Given the description of an element on the screen output the (x, y) to click on. 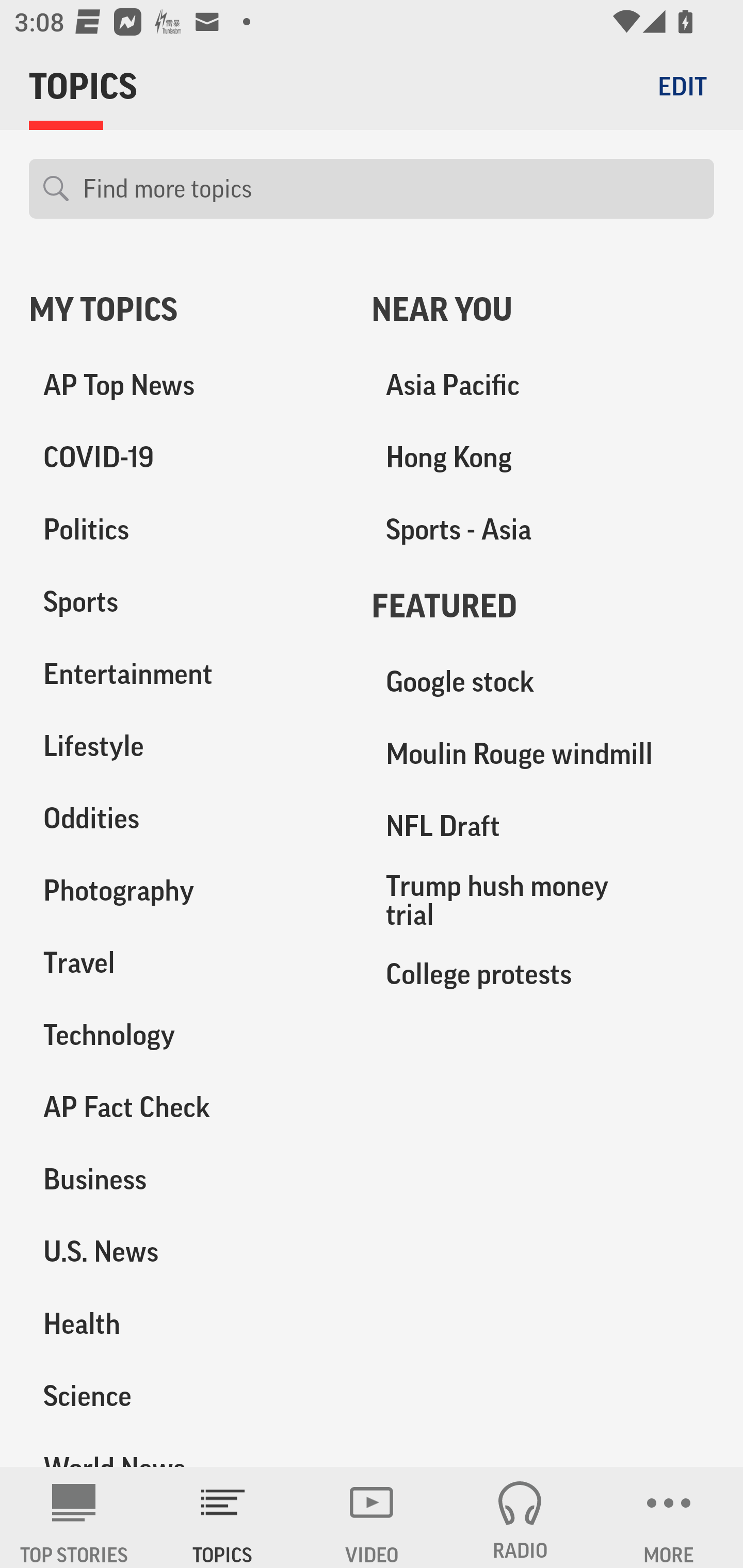
EDIT (682, 86)
Find more topics (391, 188)
AP Top News (185, 385)
Asia Pacific (542, 385)
COVID-19 (185, 457)
Hong Kong (542, 457)
Politics (185, 529)
Sports - Asia (542, 529)
Sports (185, 602)
Entertainment (185, 674)
Google stock (542, 682)
Lifestyle (185, 746)
Moulin Rouge windmill (542, 754)
Oddities (185, 818)
NFL Draft (542, 826)
Photography (185, 890)
Trump hush money trial (542, 899)
Travel (185, 962)
College protests (542, 973)
Technology (185, 1034)
AP Fact Check (185, 1106)
Business (185, 1179)
U.S. News (185, 1251)
Health (185, 1323)
Science (185, 1395)
AP News TOP STORIES (74, 1517)
TOPICS (222, 1517)
VIDEO (371, 1517)
RADIO (519, 1517)
MORE (668, 1517)
